Given the description of an element on the screen output the (x, y) to click on. 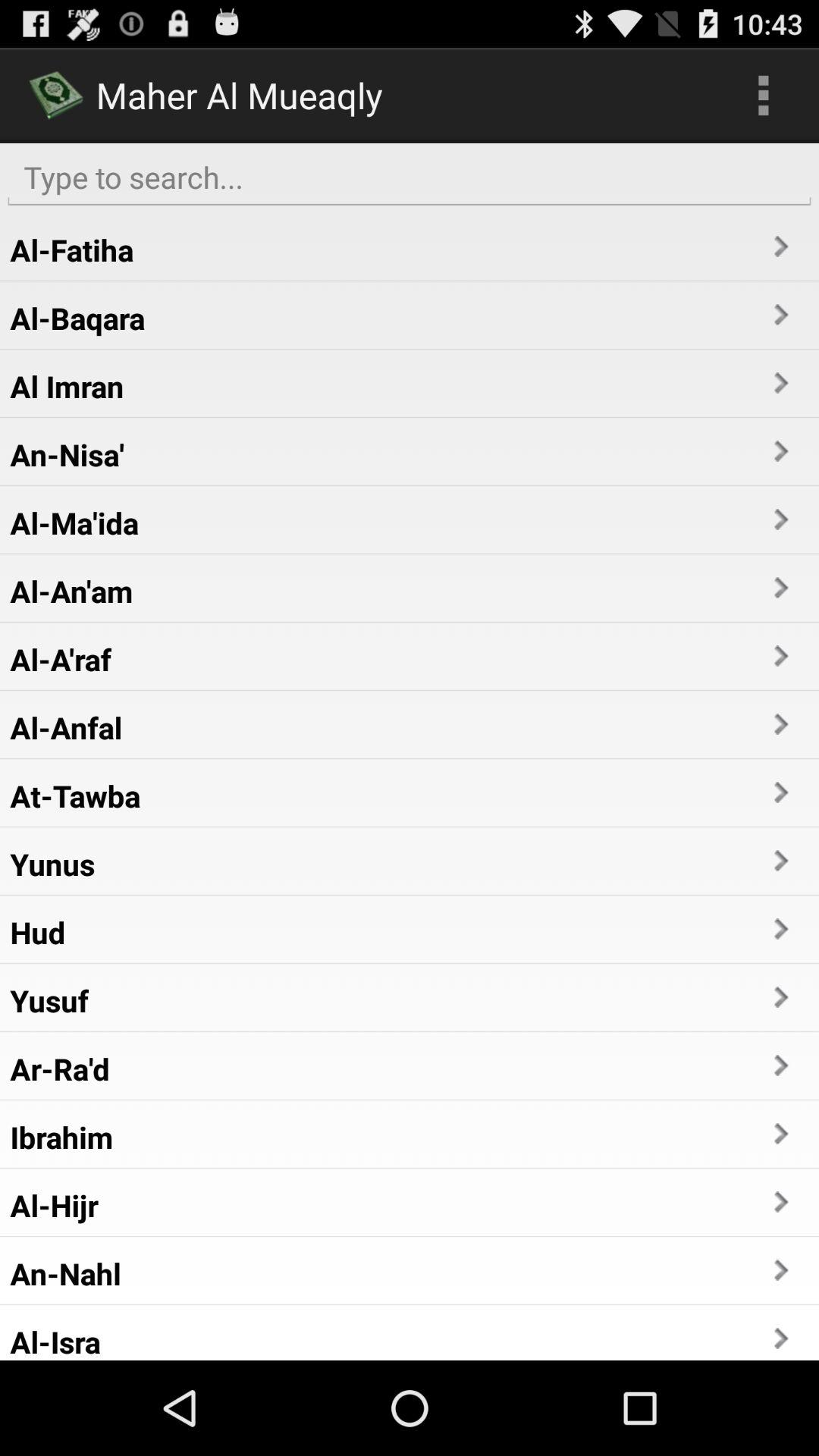
swipe until the al-isra app (55, 1340)
